Given the description of an element on the screen output the (x, y) to click on. 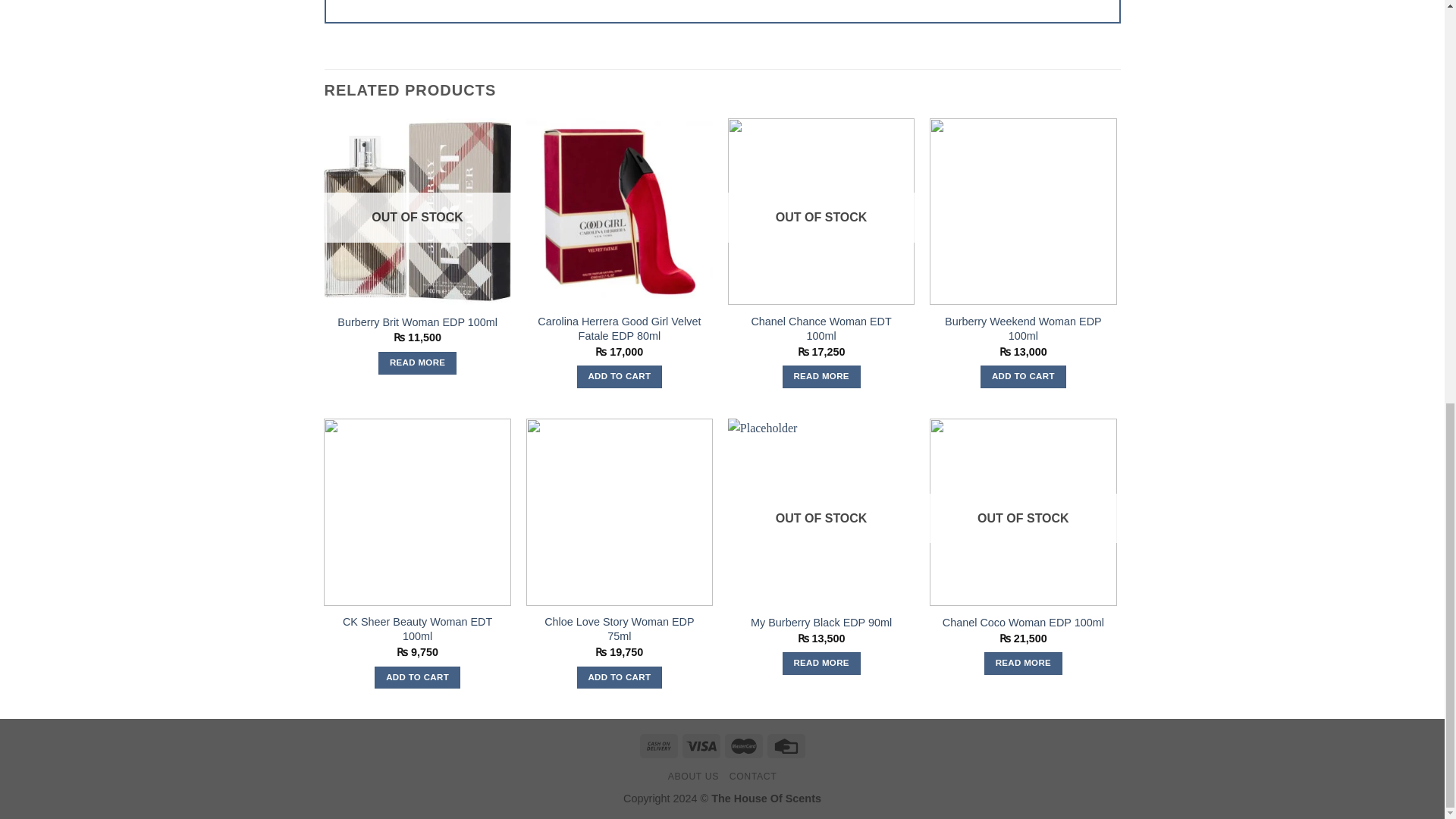
Burberry Brit Woman EDP 100ml (417, 322)
READ MORE (417, 363)
